Given the description of an element on the screen output the (x, y) to click on. 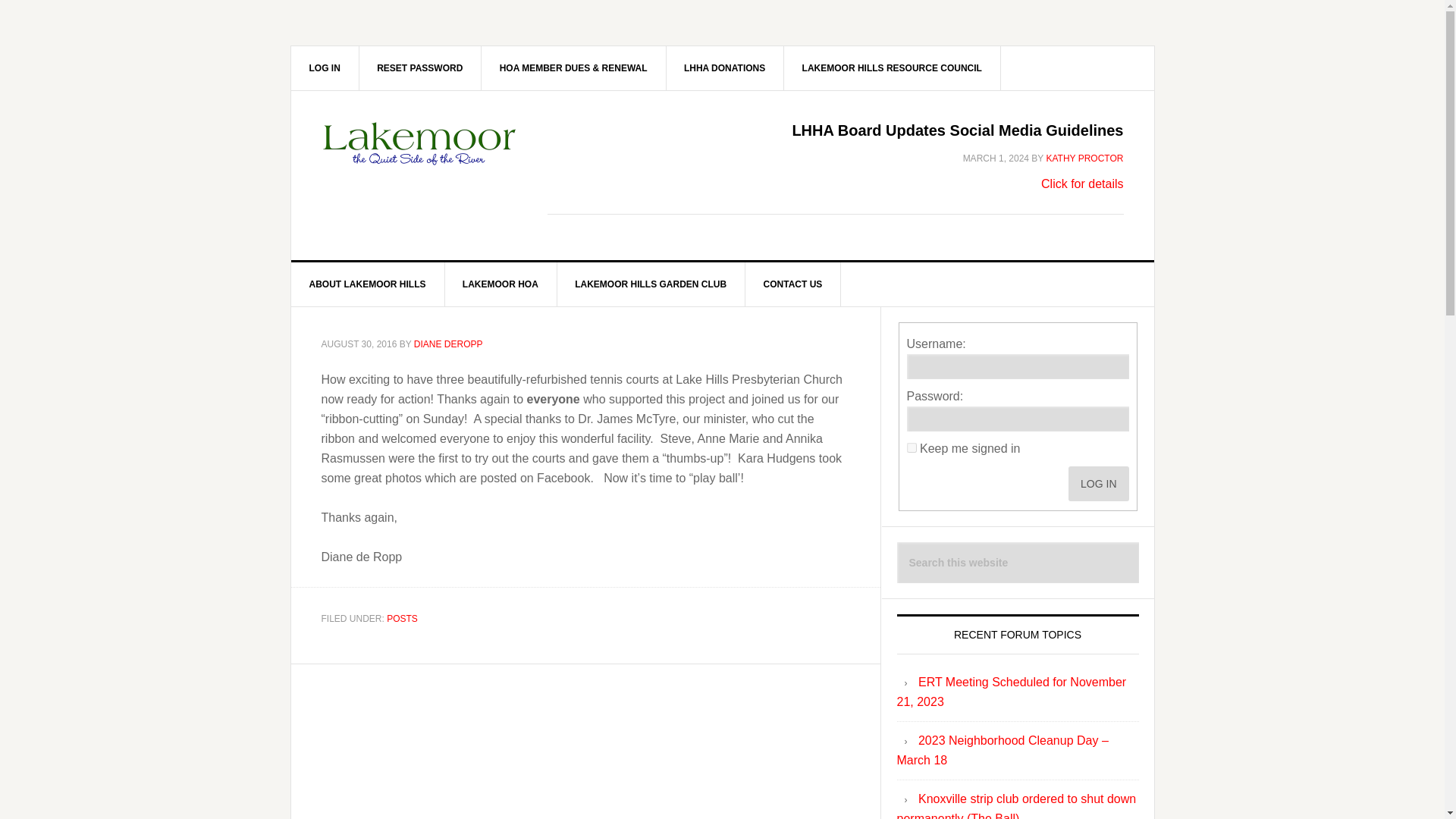
LAKEMOOR HOA (500, 284)
LAKEMOOR HILLS RESOURCE COUNCIL (892, 67)
LHHA DONATIONS (724, 67)
RESET PASSWORD (419, 67)
LAKEMOOR HILLS GARDEN CLUB (650, 284)
LOG IN (1098, 483)
POSTS (402, 618)
CONTACT US (793, 284)
LHHA Board Updates Social Media Guidelines (957, 130)
forever (912, 447)
ABOUT LAKEMOOR HILLS (368, 284)
KATHY PROCTOR (1083, 158)
